Given the description of an element on the screen output the (x, y) to click on. 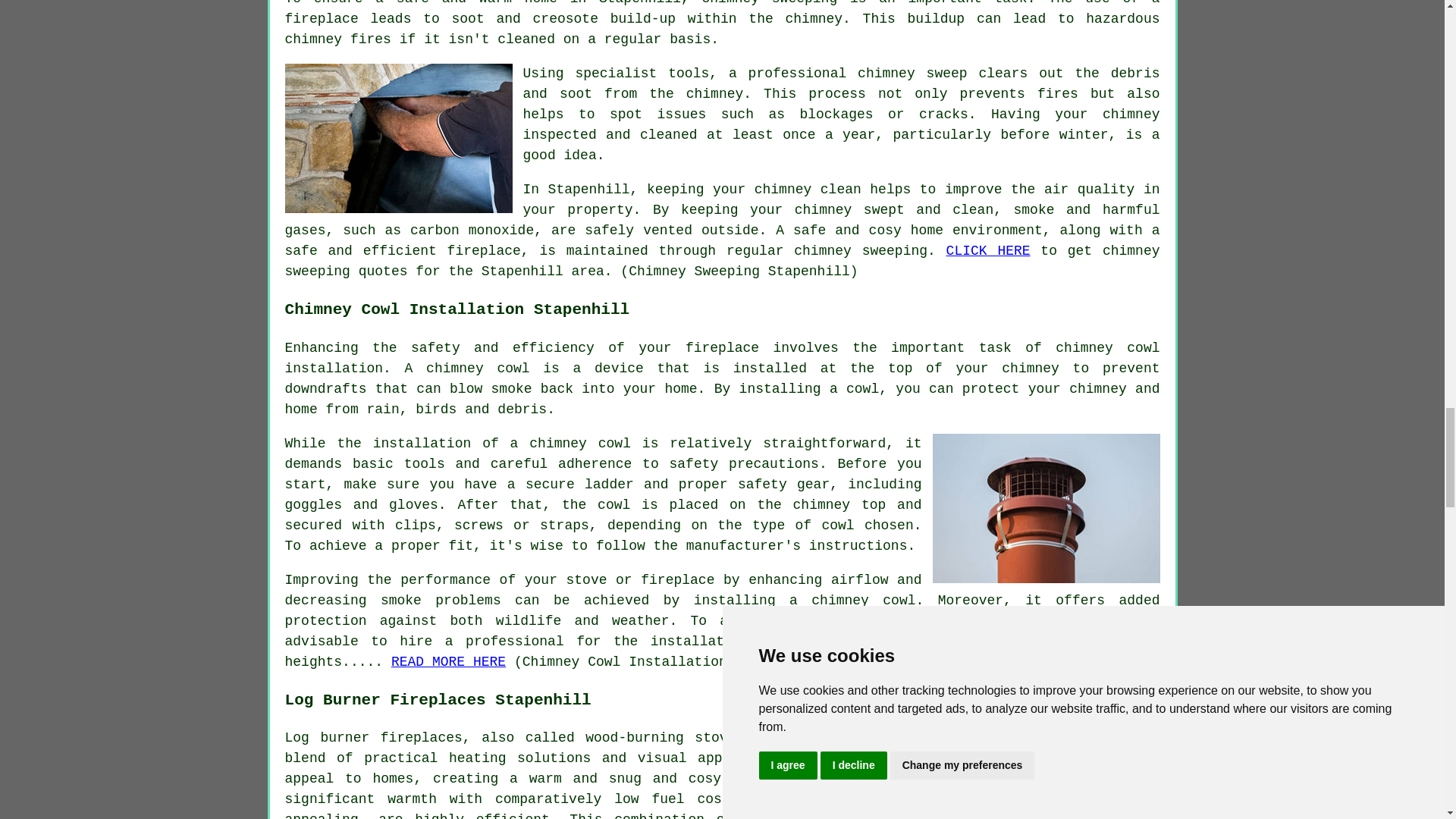
Log burner fireplaces (374, 737)
Chimney Sweeping Stapenhill (398, 137)
Chimney Cowl Installation Stapenhill (1046, 508)
